Given the description of an element on the screen output the (x, y) to click on. 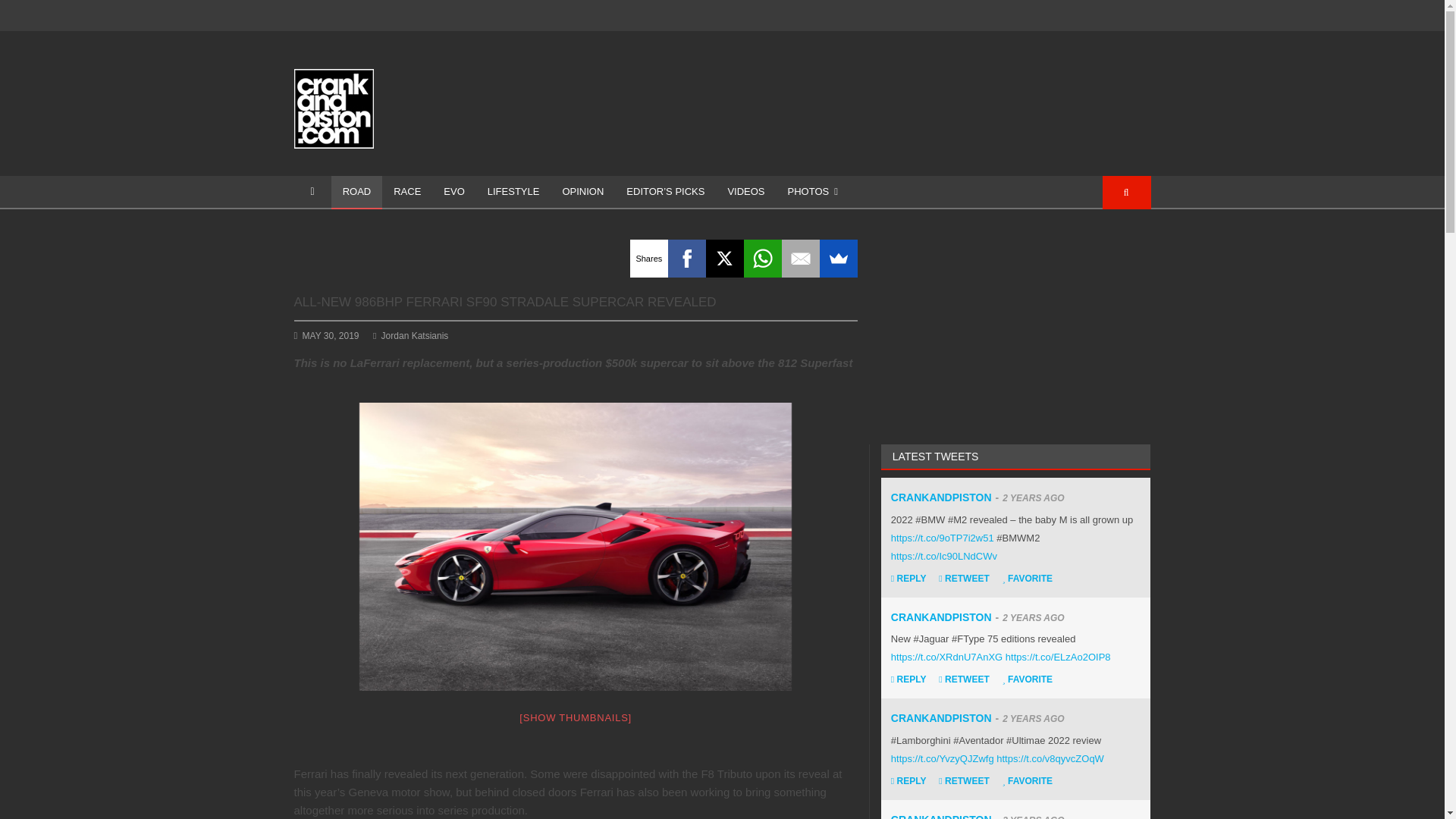
OPINION (582, 192)
EVO (454, 192)
X (725, 258)
Thursday, May 30, 2019, 11:42 am (330, 335)
Email (800, 258)
Jordan Katsianis (410, 335)
Facebook (687, 258)
LIFESTYLE (513, 192)
ROAD (356, 192)
VIDEOS (746, 192)
RACE (406, 192)
On The Road (356, 192)
WhatsApp (762, 258)
PHOTOS (812, 192)
SumoMe (838, 258)
